Given the description of an element on the screen output the (x, y) to click on. 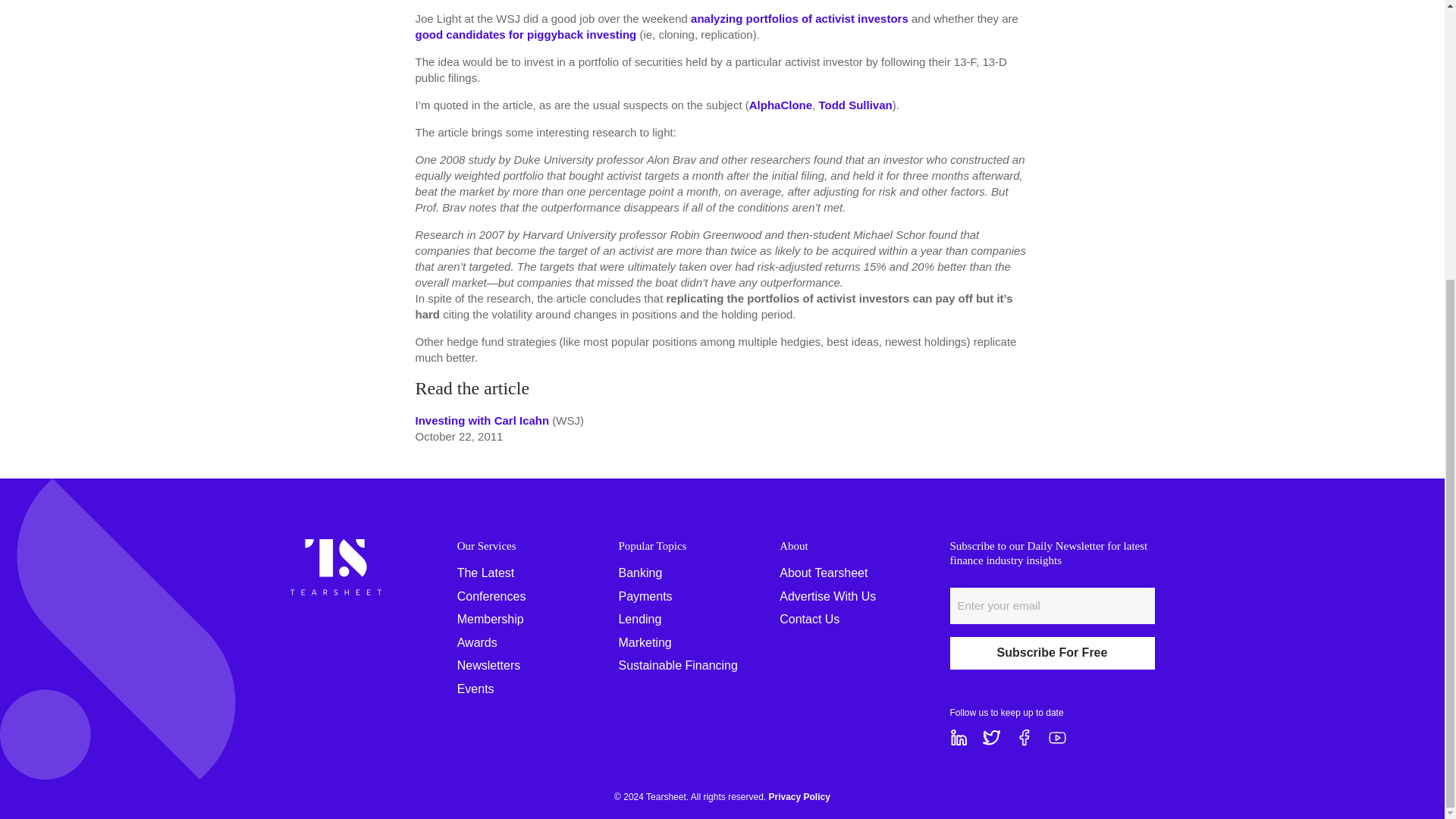
Tearsheet (334, 546)
Privacy Policy (798, 796)
